Given the description of an element on the screen output the (x, y) to click on. 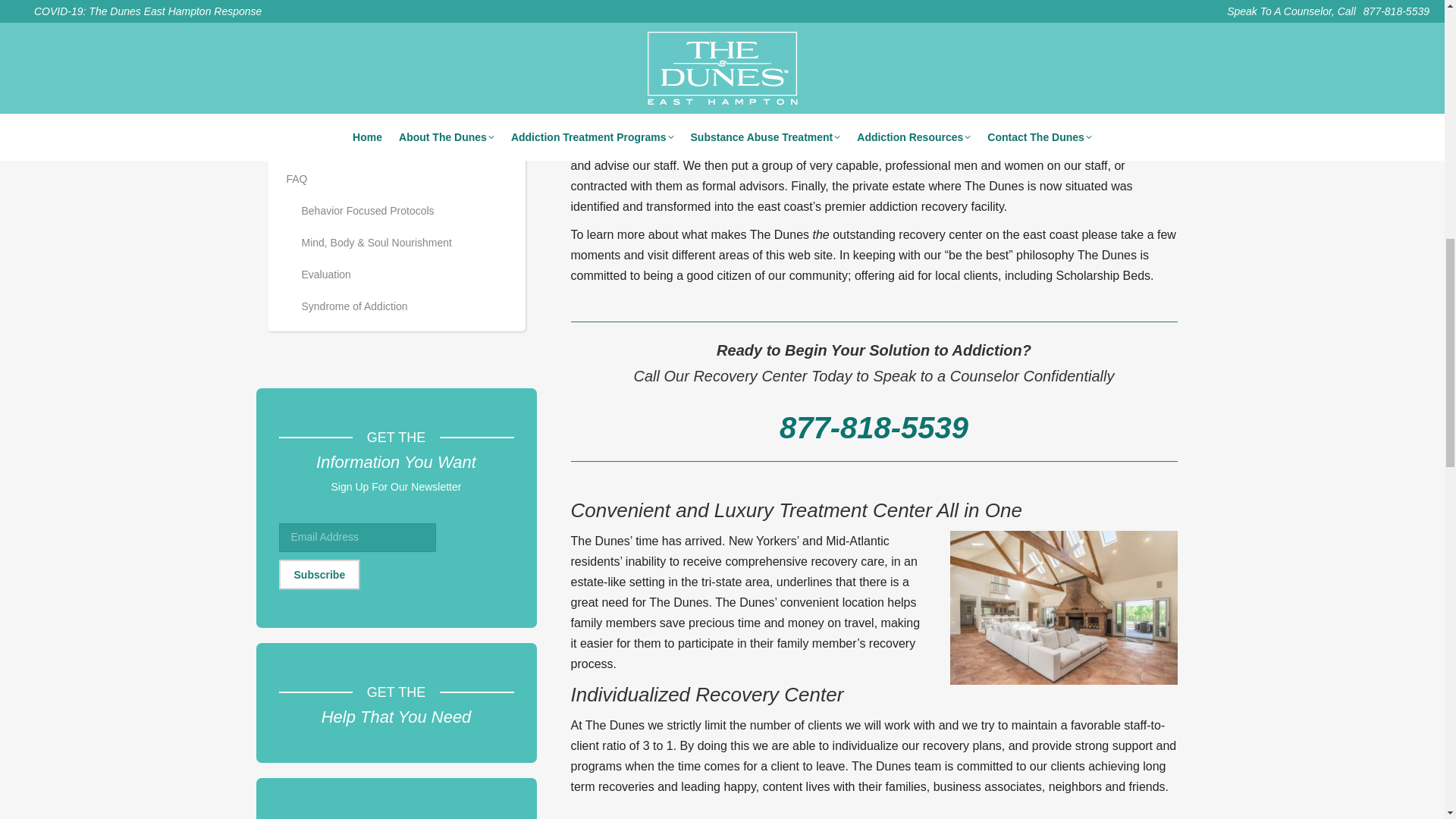
Subscribe (320, 574)
